Given the description of an element on the screen output the (x, y) to click on. 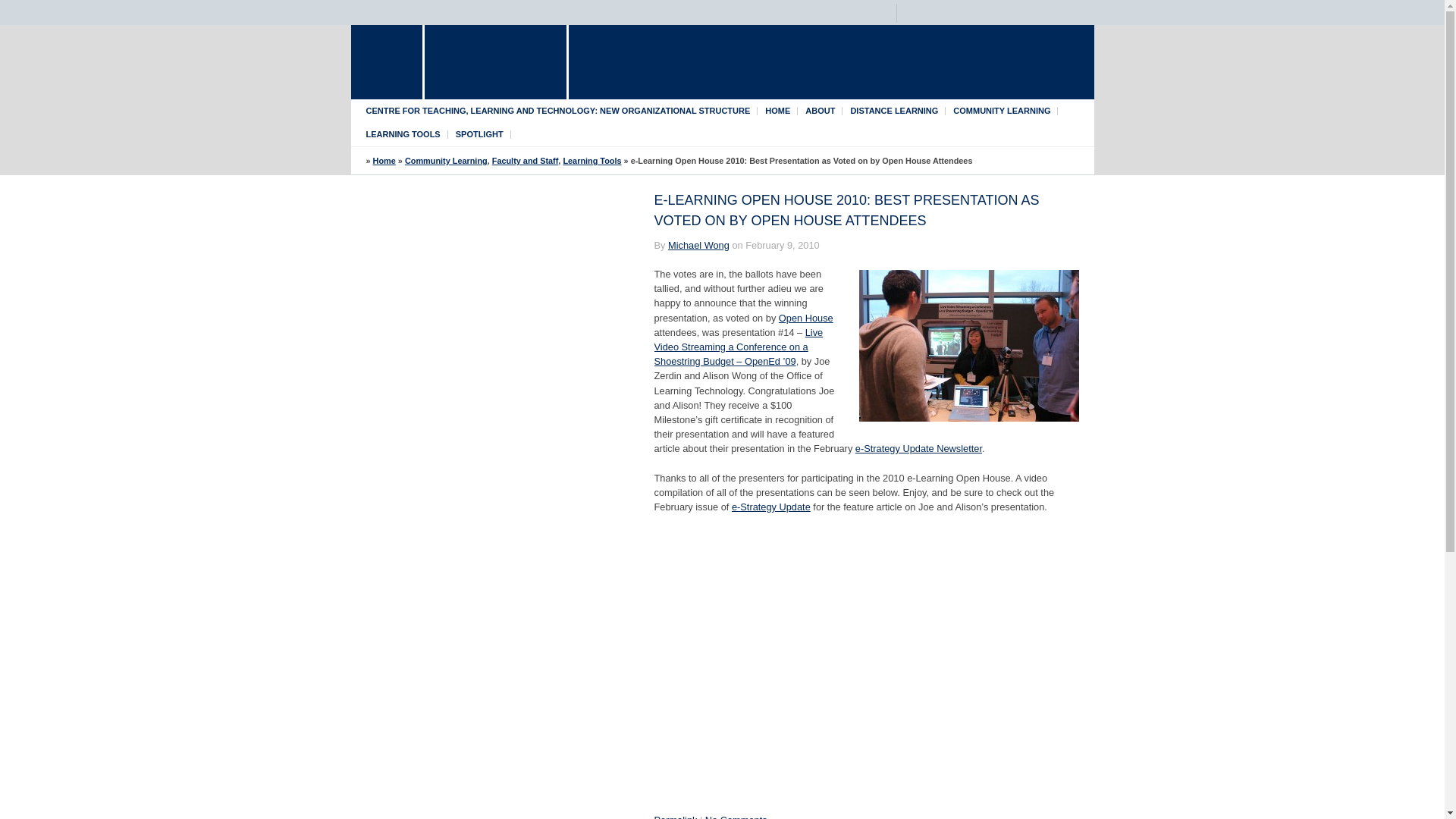
Posts by Michael Wong (698, 244)
Search (1080, 12)
ABOUT (820, 111)
Alison and Joe (968, 345)
a place of mind (495, 62)
DISTANCE LEARNING (893, 111)
LEARNING TOOLS (402, 134)
UBC Directories (754, 14)
